Given the description of an element on the screen output the (x, y) to click on. 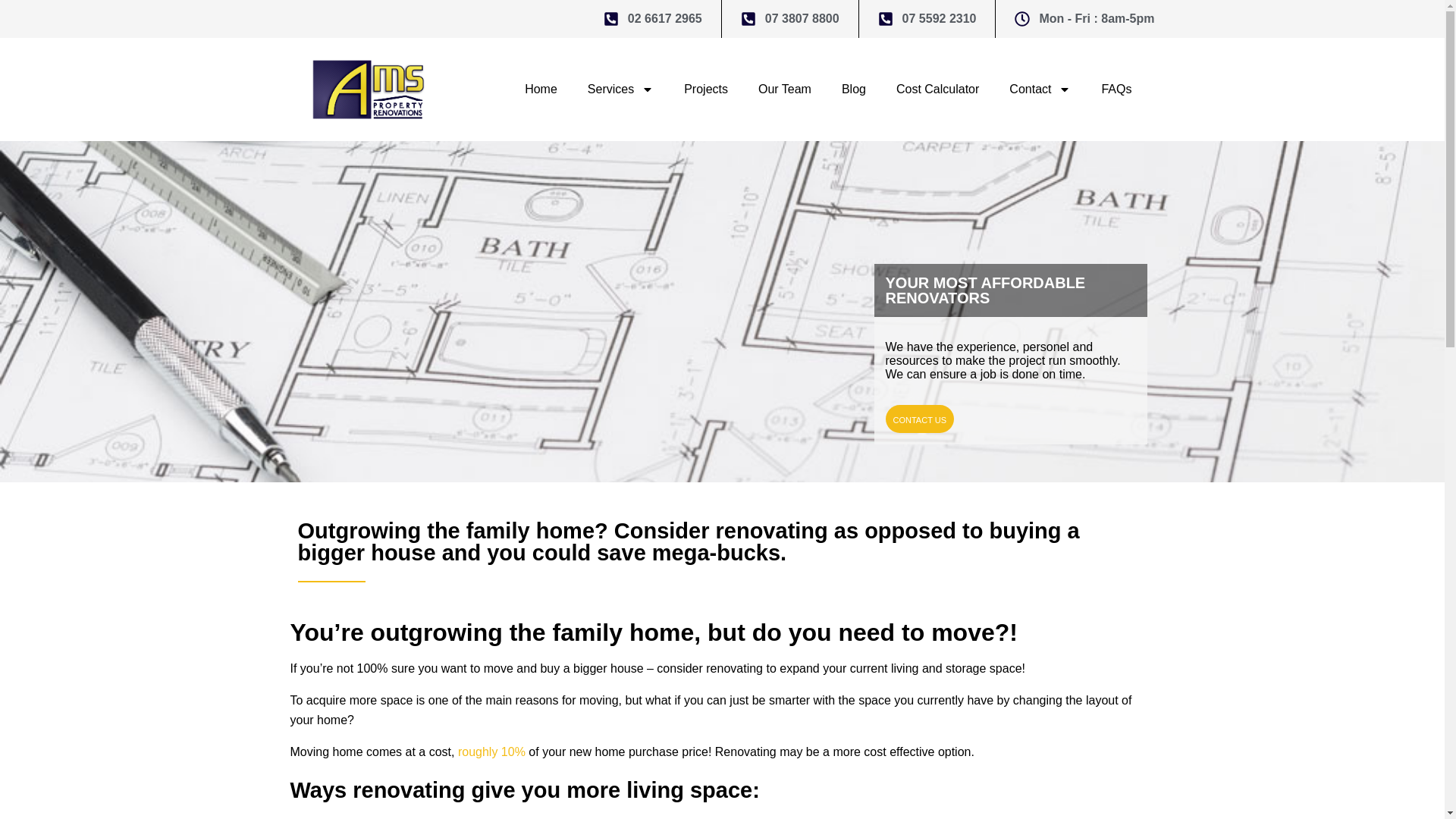
Projects (705, 89)
Cost Calculator (937, 89)
Contact (1040, 89)
02 6617 2965 (652, 18)
Services (620, 89)
Blog (853, 89)
Home (540, 89)
07 5592 2310 (926, 18)
FAQs (1116, 89)
Our Team (784, 89)
07 3807 8800 (790, 18)
